Given the description of an element on the screen output the (x, y) to click on. 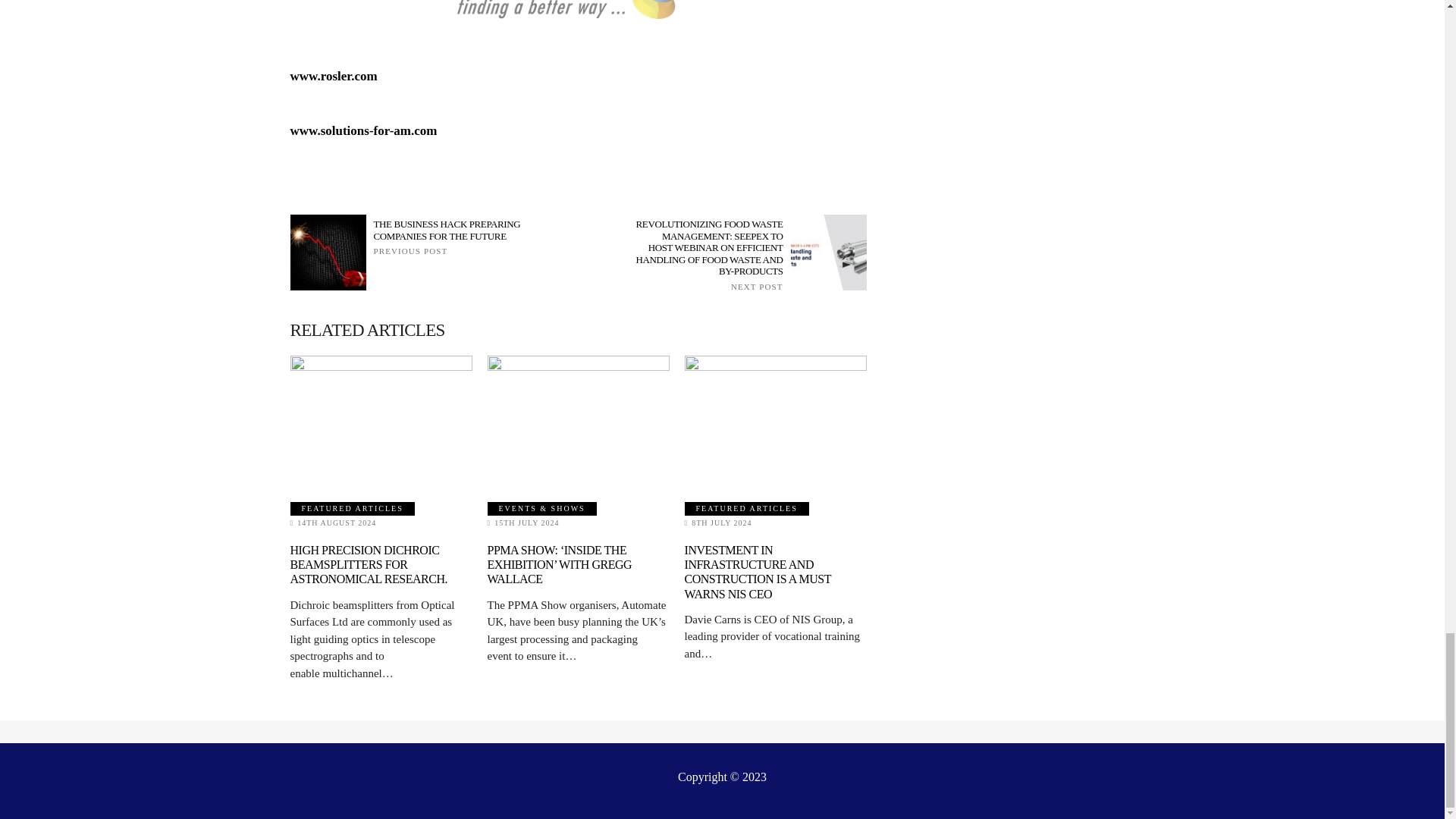
www.rosler.com (333, 75)
FEATURED ARTICLES (351, 508)
www.solutions-for-am.com (362, 130)
